Given the description of an element on the screen output the (x, y) to click on. 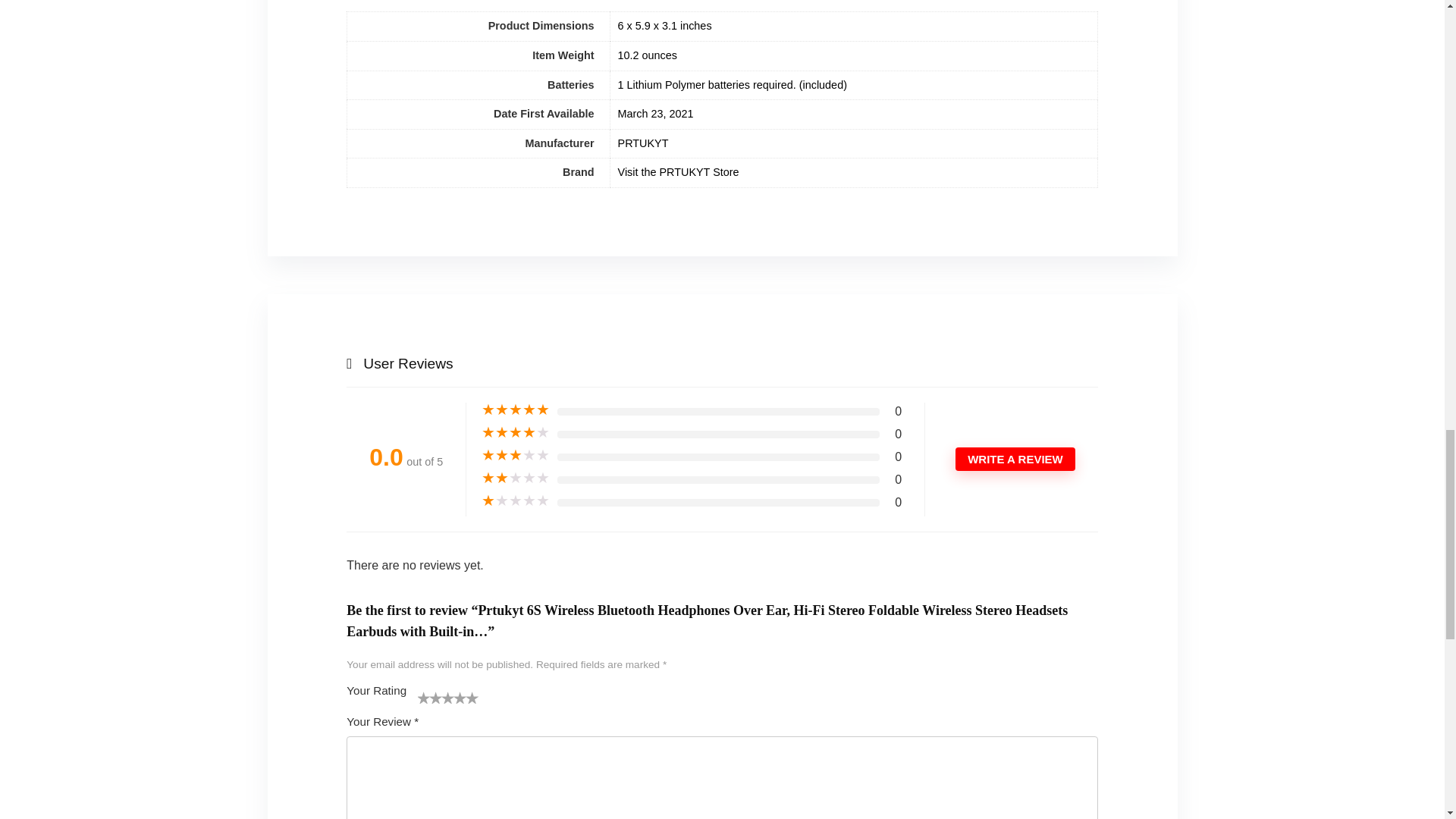
WRITE A REVIEW (1015, 458)
Rated 5 out of 5 (515, 409)
